Given the description of an element on the screen output the (x, y) to click on. 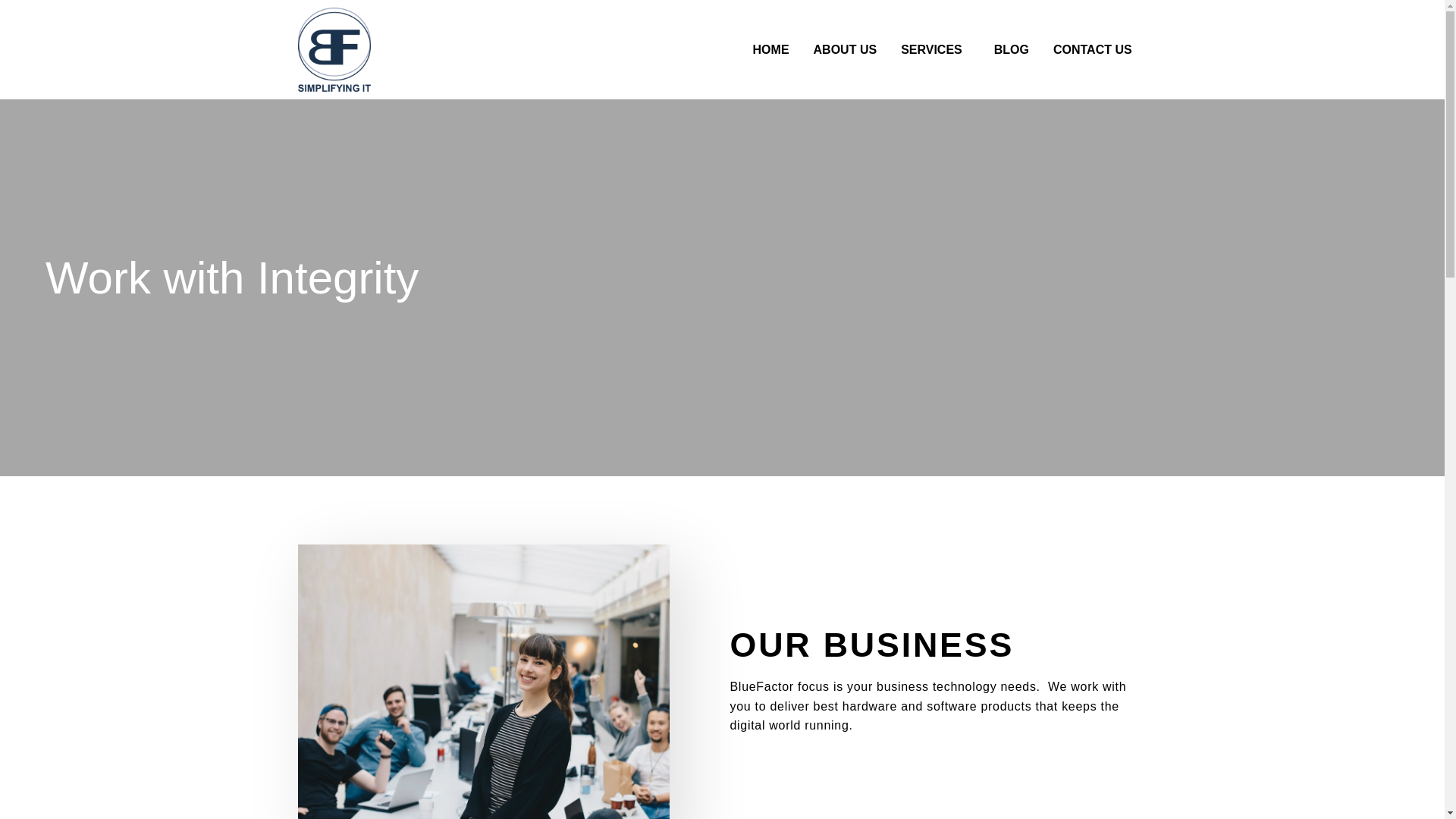
ABOUT US (845, 48)
SERVICES (934, 48)
BLOG (1011, 48)
HOME (771, 48)
CONTACT US (1092, 48)
